Given the description of an element on the screen output the (x, y) to click on. 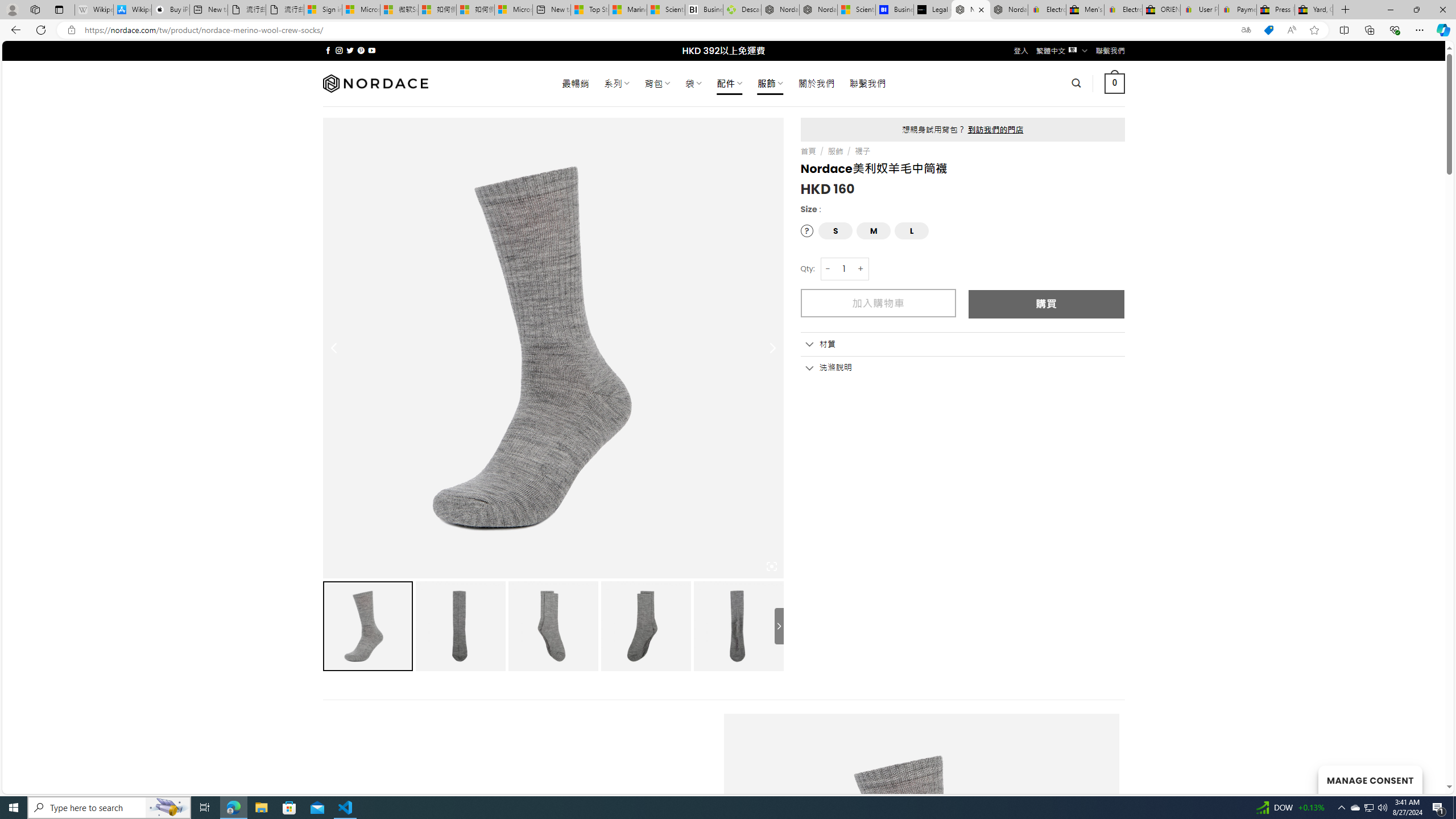
Follow on YouTube (371, 50)
? (806, 230)
